Given the description of an element on the screen output the (x, y) to click on. 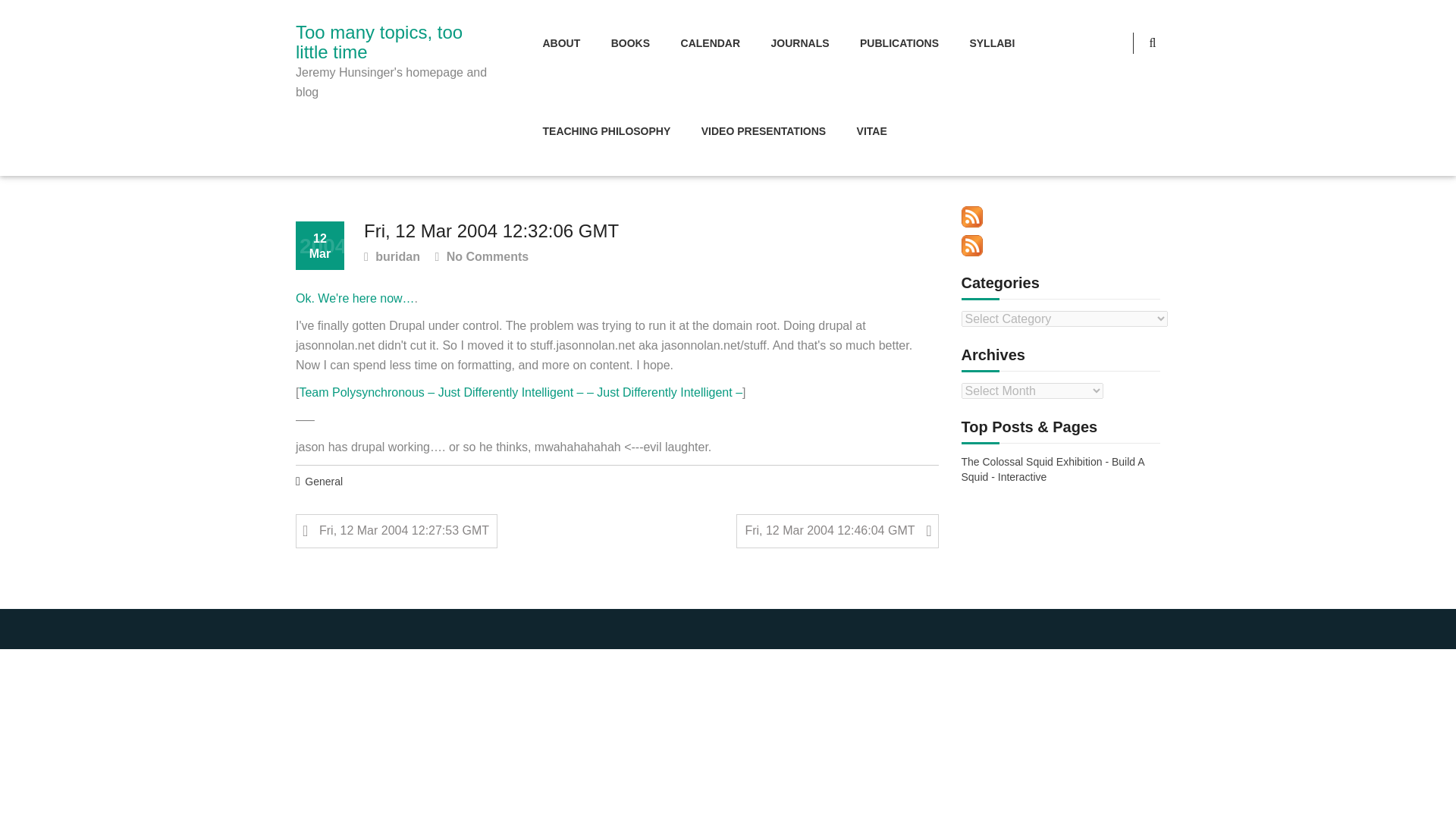
Fri, 12 Mar 2004 12:27:53 GMT (396, 530)
Fri, 12 Mar 2004 12:46:04 GMT (836, 530)
CALENDAR (710, 43)
JOURNALS (800, 43)
No Comments (480, 257)
VIDEO PRESENTATIONS (763, 131)
Subscribe to posts (971, 216)
General (322, 482)
PUBLICATIONS (898, 43)
The Colossal Squid Exhibition - Build A Squid - Interactive (1060, 470)
Too many topics, too little time (395, 42)
TEACHING PHILOSOPHY (606, 131)
buridan (392, 257)
Subscribe to comments (971, 245)
